Given the description of an element on the screen output the (x, y) to click on. 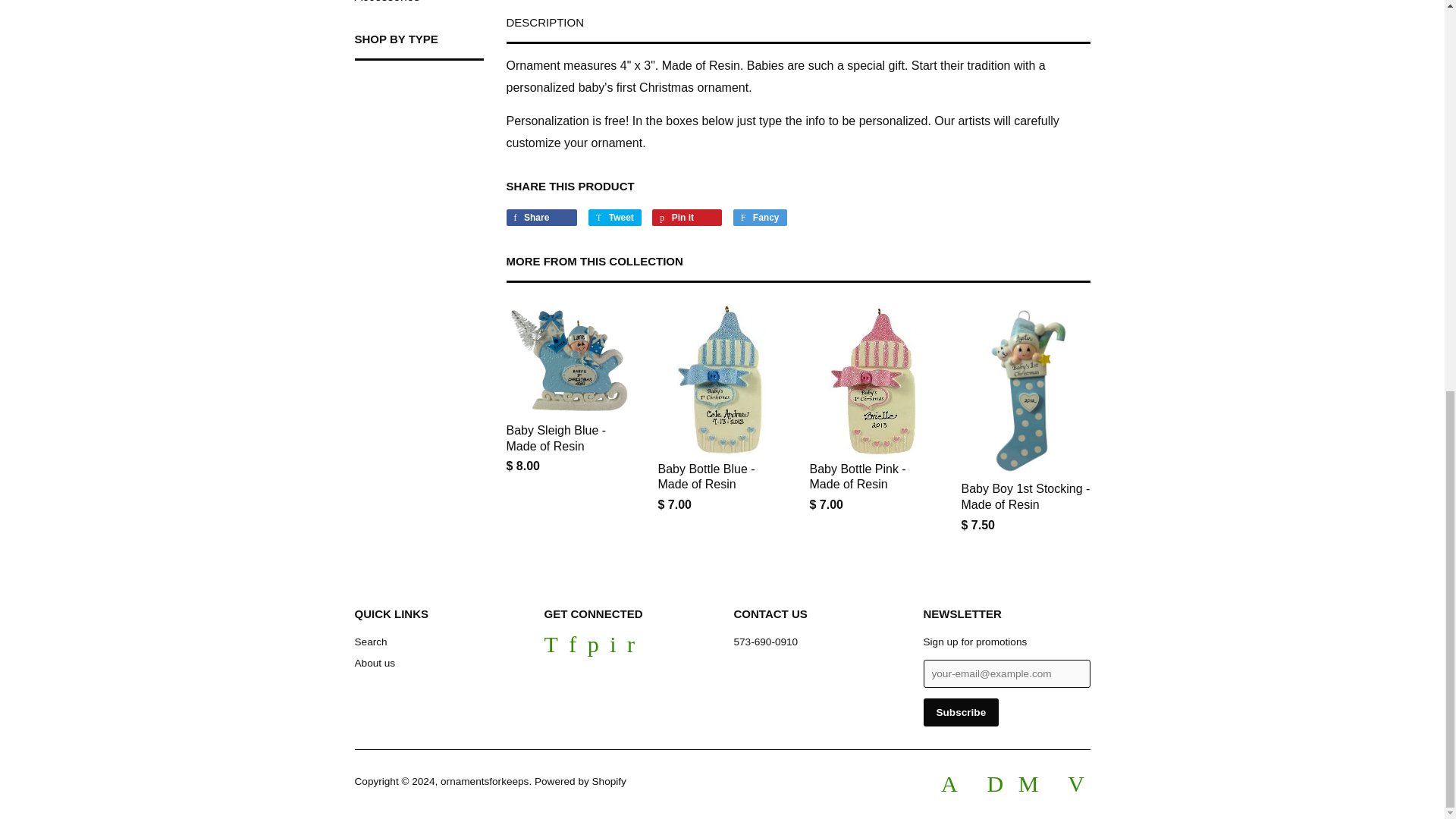
ornamentsforkeeps on Pinterest (593, 648)
Subscribe (960, 712)
ornamentsforkeeps on Twitter (550, 648)
